Given the description of an element on the screen output the (x, y) to click on. 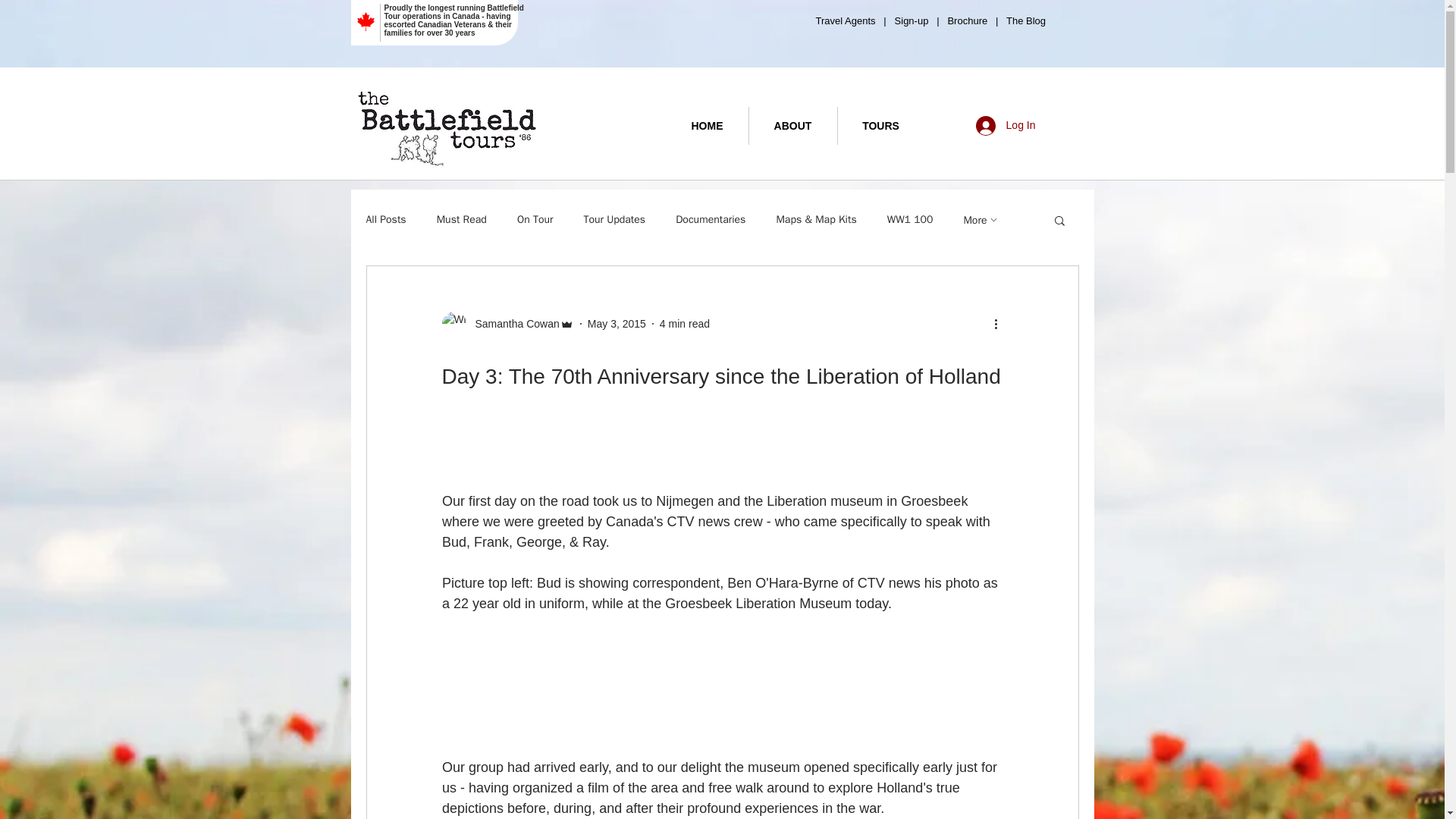
Samantha Cowan (512, 323)
TOURS (880, 125)
Samantha Cowan (507, 323)
All Posts (385, 219)
Must Read (461, 219)
On Tour (534, 219)
The Blog   (1028, 20)
Documentaries (710, 219)
WW1 100 (909, 219)
HOME (706, 125)
May 3, 2015 (617, 322)
4 min read (684, 322)
Log In (1005, 125)
ABOUT (793, 125)
  Sign-up  (909, 20)
